Given the description of an element on the screen output the (x, y) to click on. 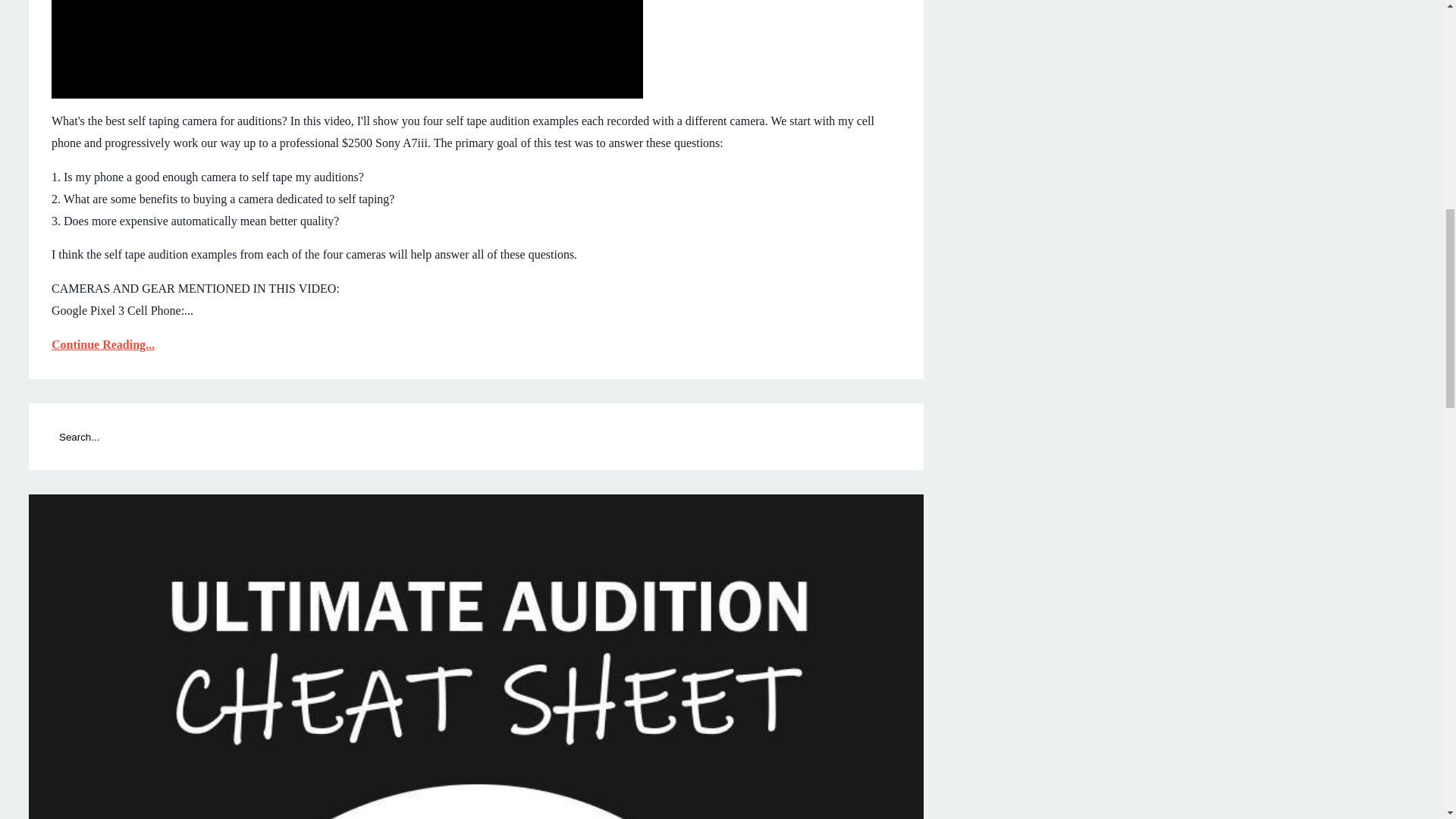
Continue Reading... (475, 345)
